Given the description of an element on the screen output the (x, y) to click on. 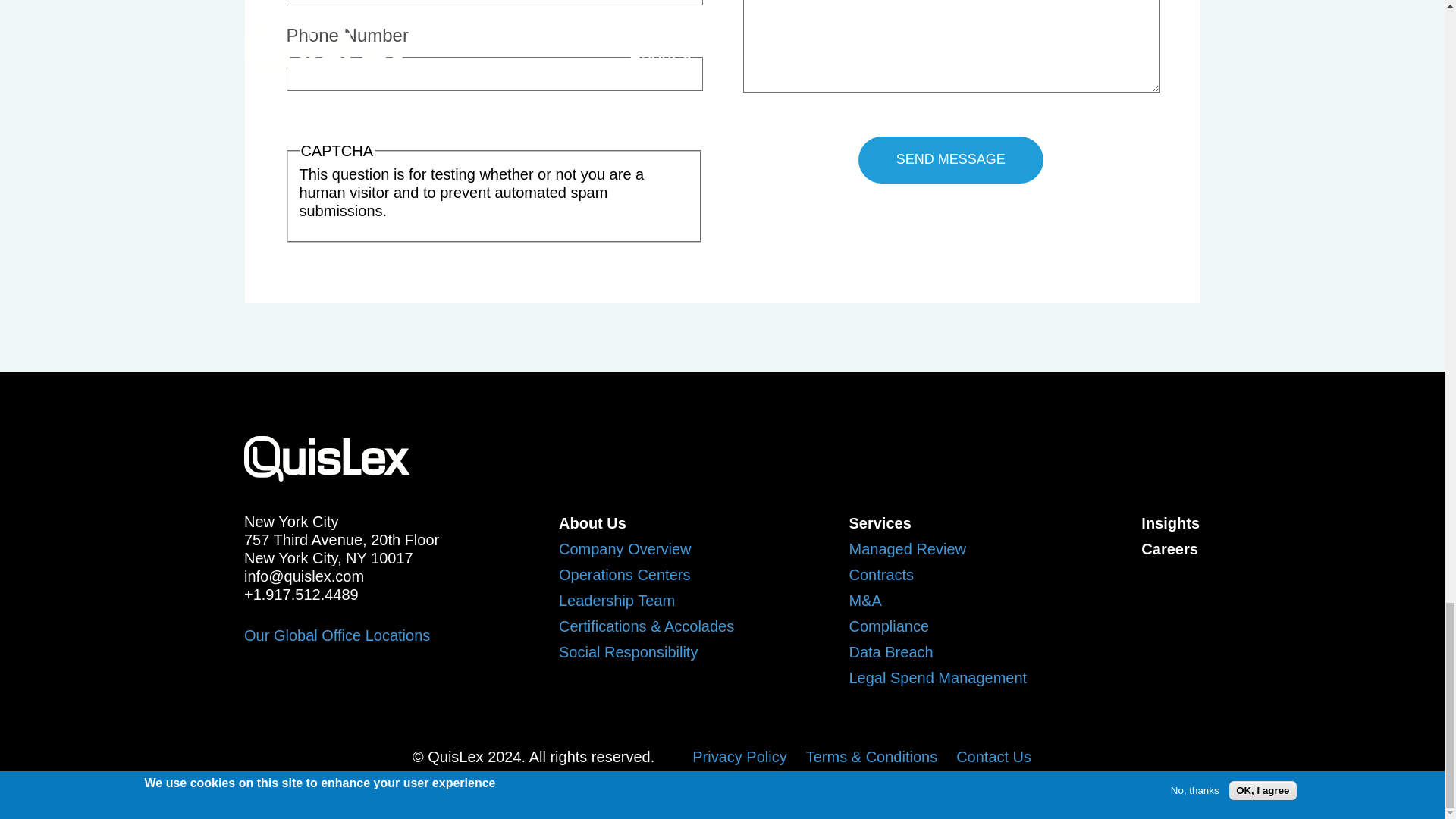
Send Message (951, 159)
About Us (592, 523)
Our Global Office Locations (336, 635)
Send Message (951, 159)
Company Overview (625, 548)
